Given the description of an element on the screen output the (x, y) to click on. 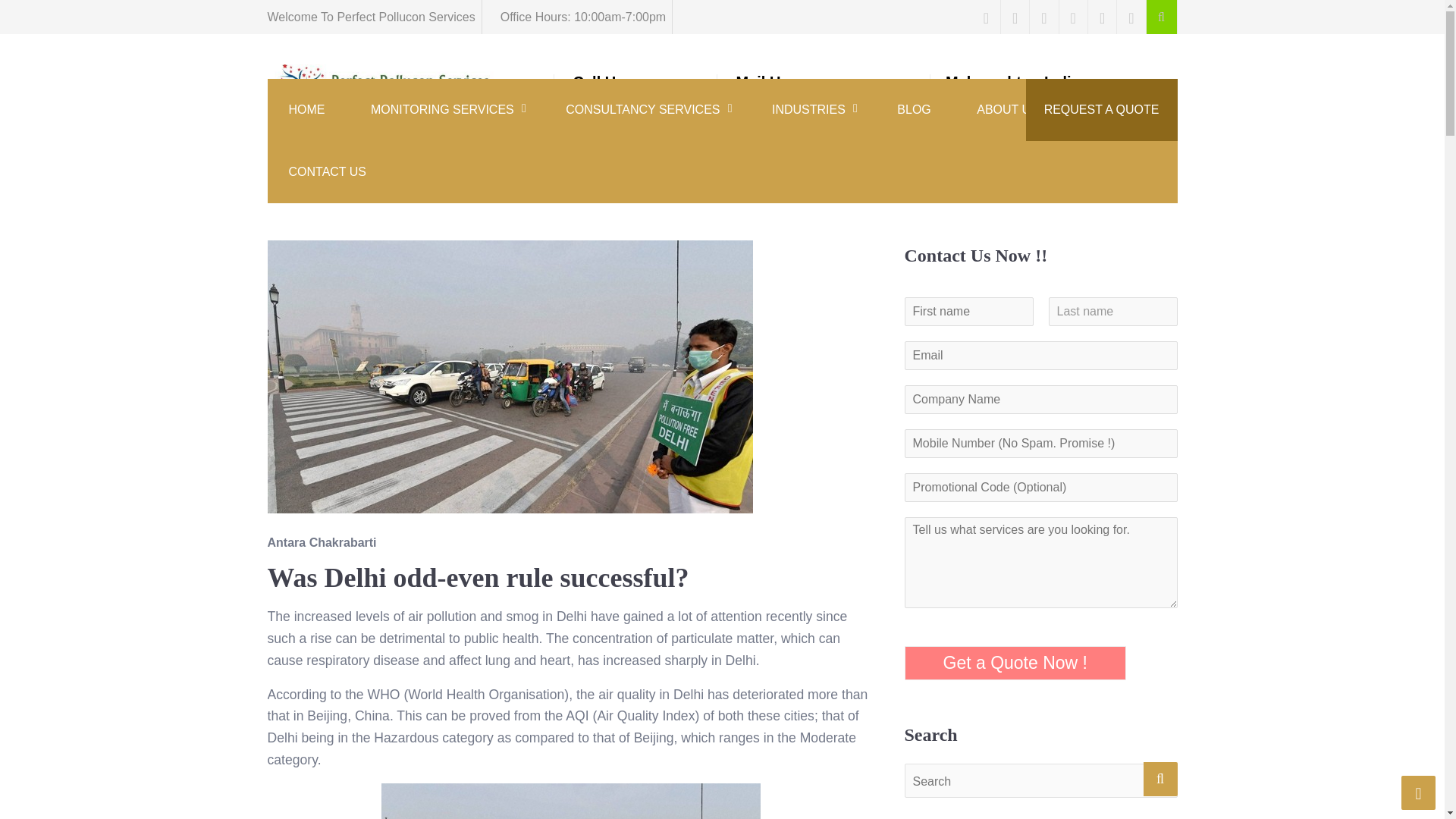
INDUSTRIES (811, 109)
Perfect Pollucon Services (576, 88)
CONSULTANCY SERVICES (342, 124)
Last name (645, 109)
HOME (1112, 311)
MONITORING SERVICES (306, 109)
Search (445, 109)
